Given the description of an element on the screen output the (x, y) to click on. 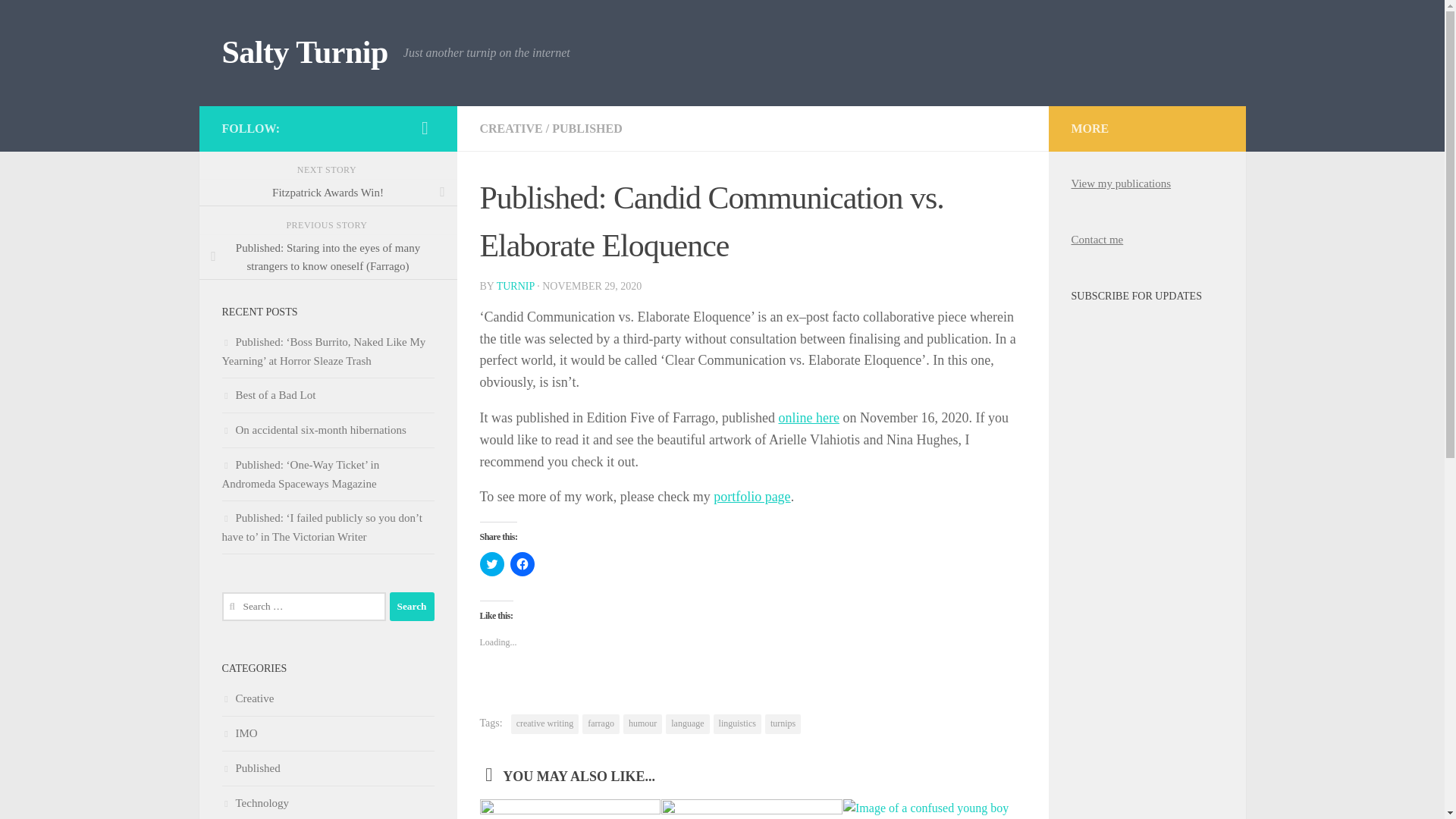
Search (411, 606)
farrago (601, 723)
linguistics (737, 723)
Salty Turnip (304, 53)
Click to share on Twitter (491, 564)
online here (807, 417)
Published (250, 767)
PUBLISHED (586, 128)
portfolio page (751, 496)
Search (411, 606)
